Given the description of an element on the screen output the (x, y) to click on. 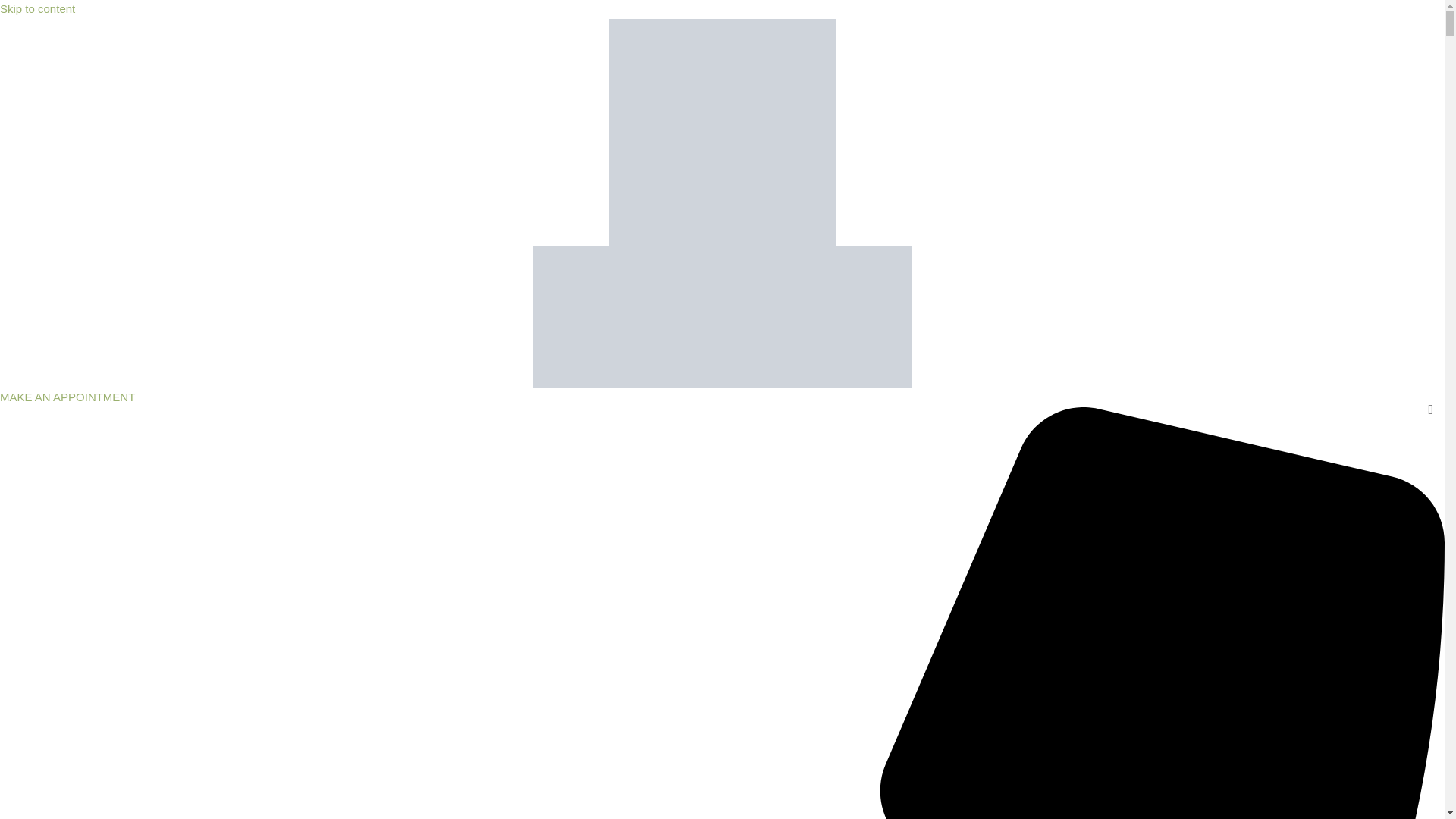
MAKE AN APPOINTMENT (67, 396)
Skip to content (37, 8)
MAKE AN APPOINTMENT (67, 396)
Skip to content (37, 8)
